Given the description of an element on the screen output the (x, y) to click on. 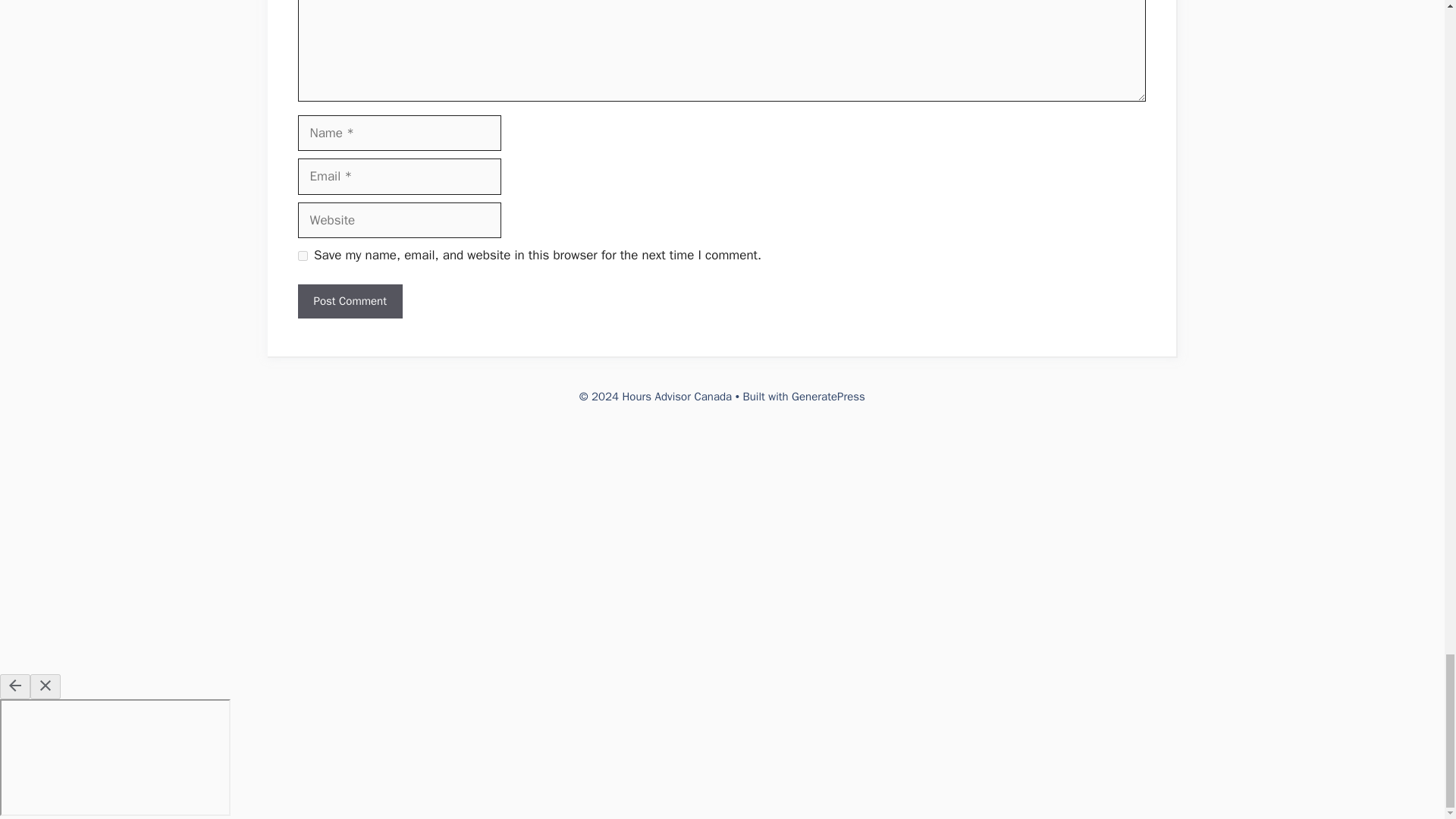
GeneratePress (828, 396)
Post Comment (349, 301)
Post Comment (349, 301)
yes (302, 255)
